Given the description of an element on the screen output the (x, y) to click on. 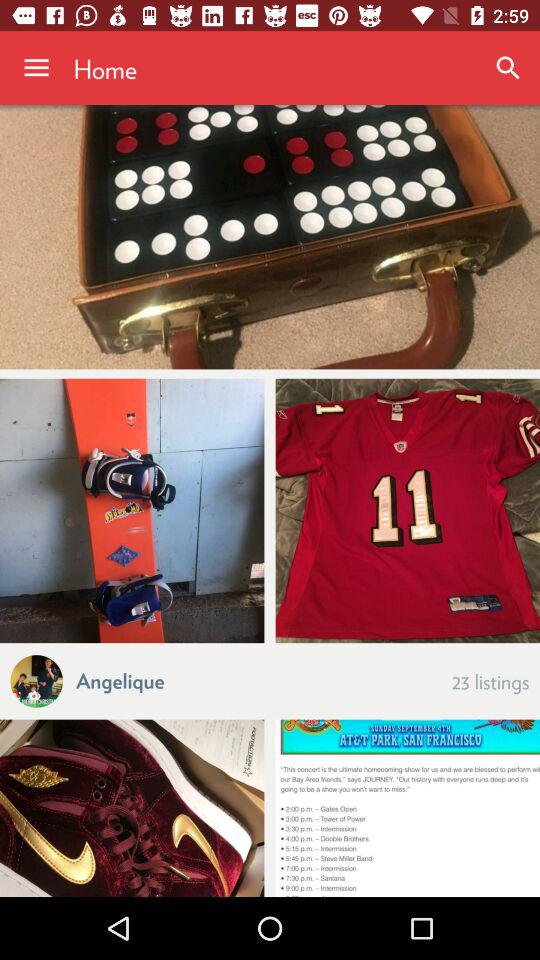
turn on angelique item (120, 679)
